Given the description of an element on the screen output the (x, y) to click on. 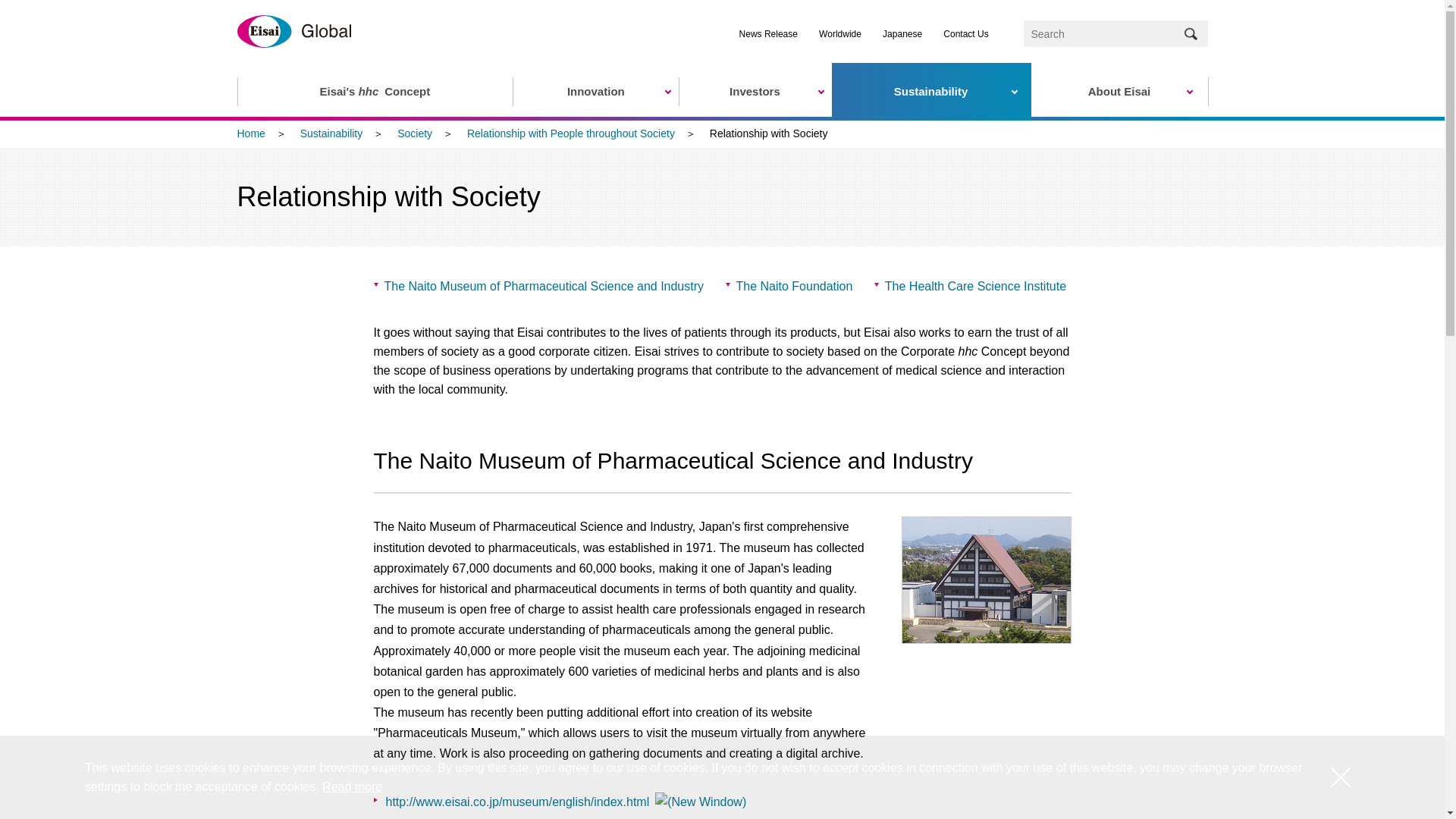
Eisai's hhc Concept (373, 91)
Innovation (595, 91)
human health care (368, 91)
